Given the description of an element on the screen output the (x, y) to click on. 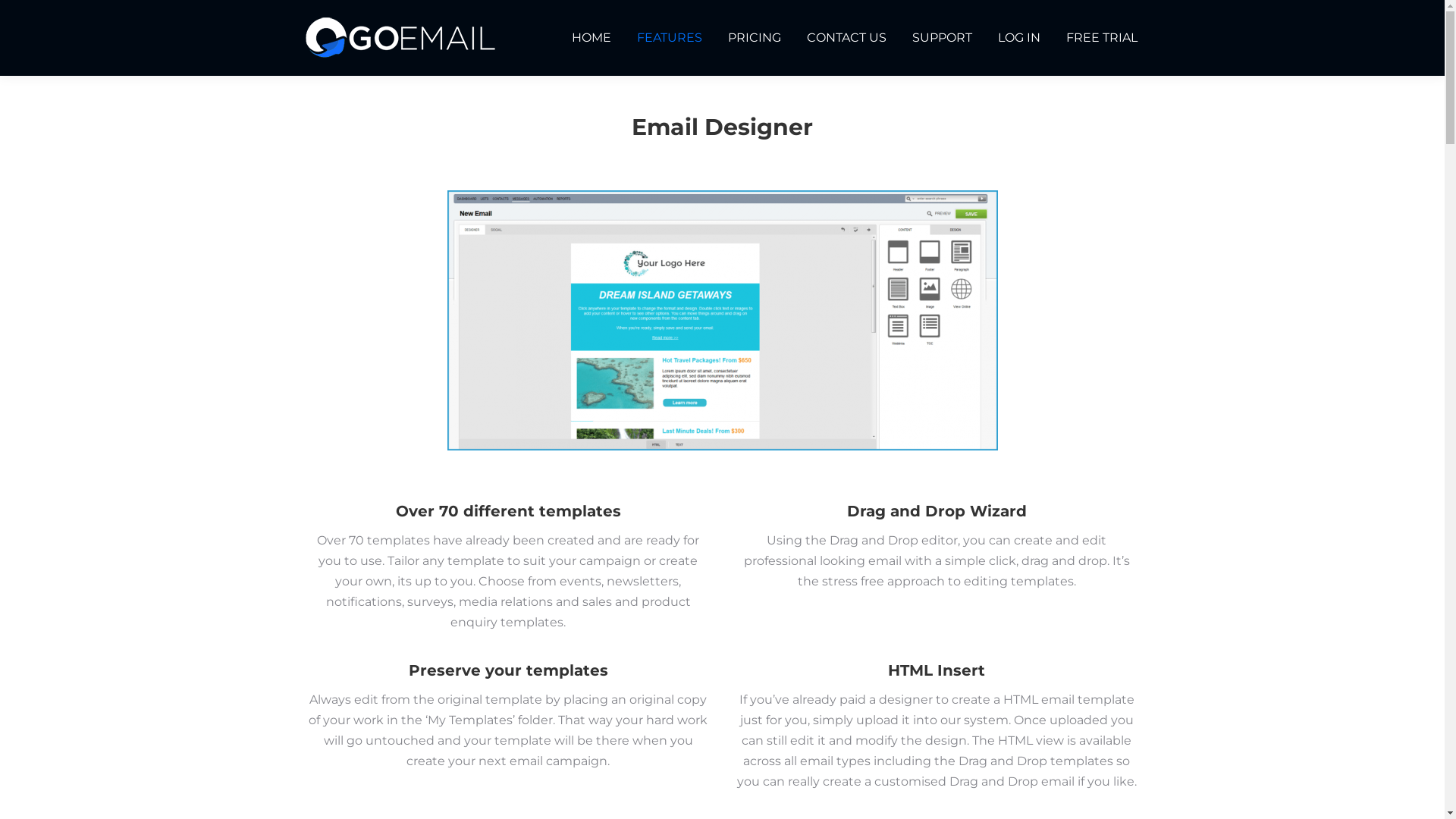
LOG IN Element type: text (1017, 37)
FEATURES Element type: text (668, 37)
SUPPORT Element type: text (942, 37)
CONTACT US Element type: text (845, 37)
FREE TRIAL Element type: text (1101, 37)
PRICING Element type: text (753, 37)
HOME Element type: text (590, 37)
email_designer2-1024x484-min Element type: hover (722, 320)
